Given the description of an element on the screen output the (x, y) to click on. 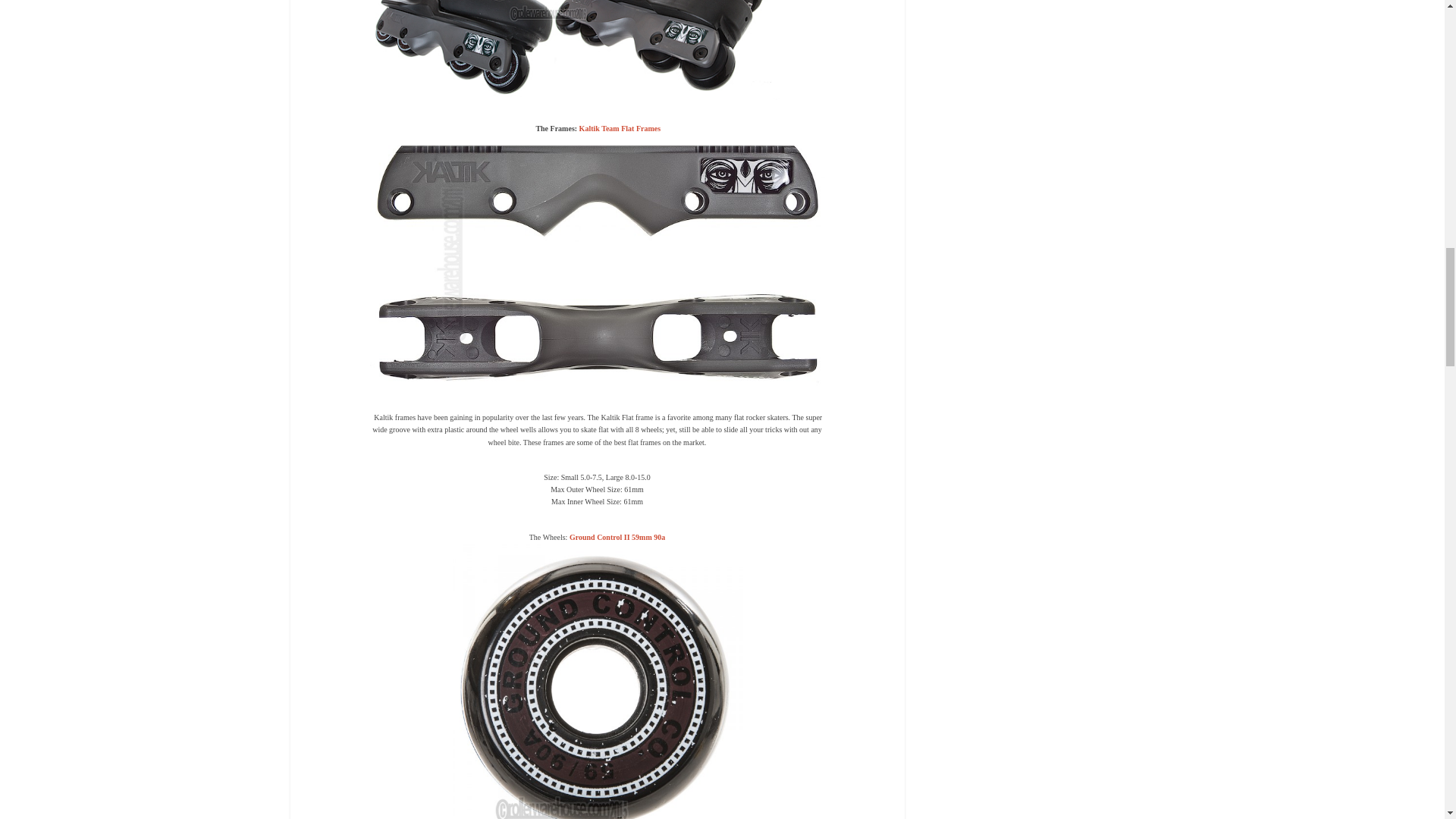
Kaltik Team Flat Frames (620, 128)
120GRC9916-1 (596, 681)
Ground Control II 59mm 90a (617, 537)
147KAL9801-1 (597, 262)
